Given the description of an element on the screen output the (x, y) to click on. 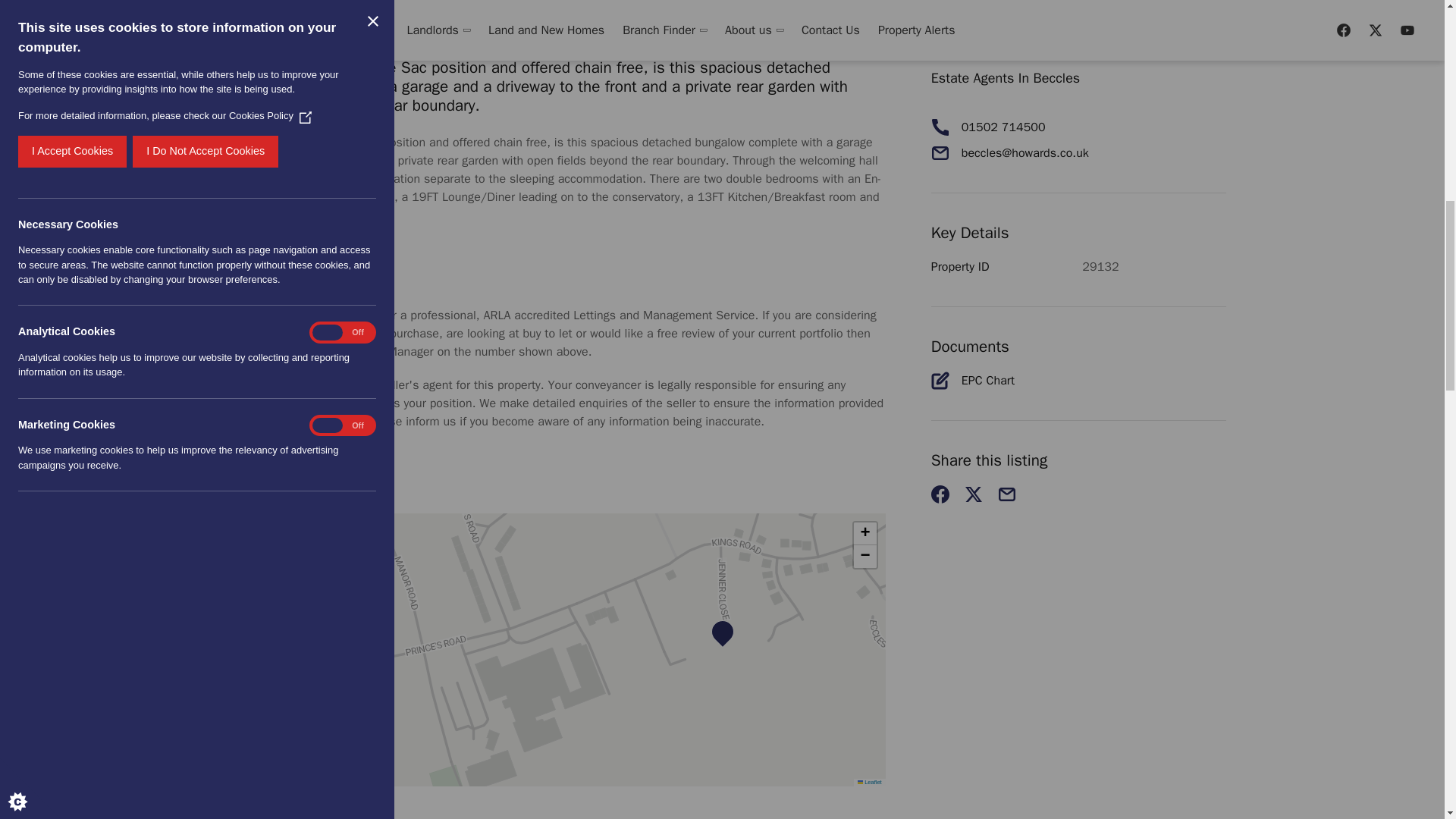
Zoom in (864, 533)
A JavaScript library for interactive maps (869, 781)
Zoom out (864, 556)
